Given the description of an element on the screen output the (x, y) to click on. 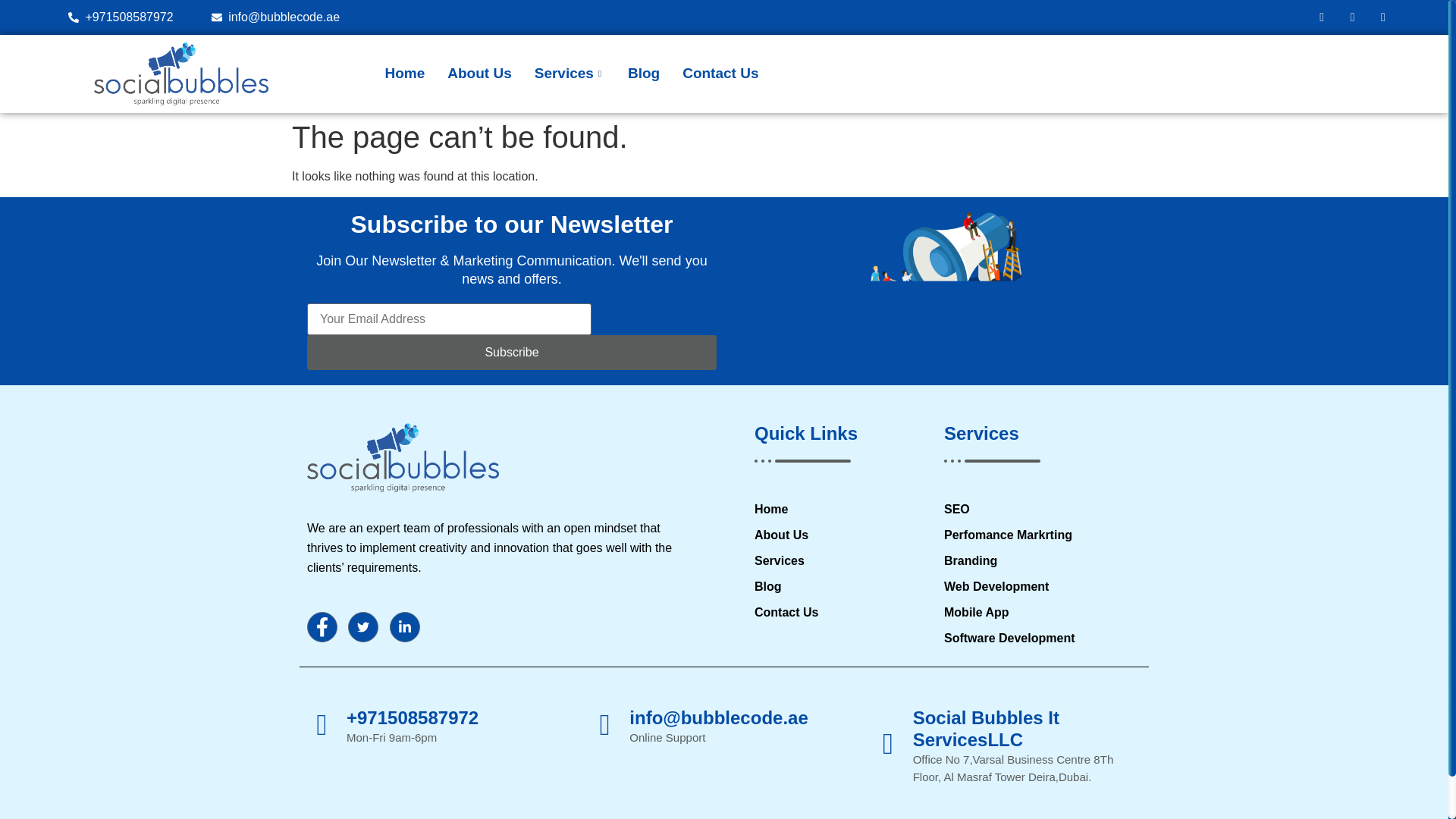
SEO (1040, 509)
Web Development (1040, 587)
Blog (841, 587)
Software Development (1040, 638)
Contact Us (720, 73)
Home (841, 509)
Home (403, 73)
Branding (1040, 561)
About Us (841, 535)
Subscribe (511, 352)
Services (568, 73)
Contact Us (841, 612)
Blog (643, 73)
Mobile App (1040, 612)
About Us (478, 73)
